Given the description of an element on the screen output the (x, y) to click on. 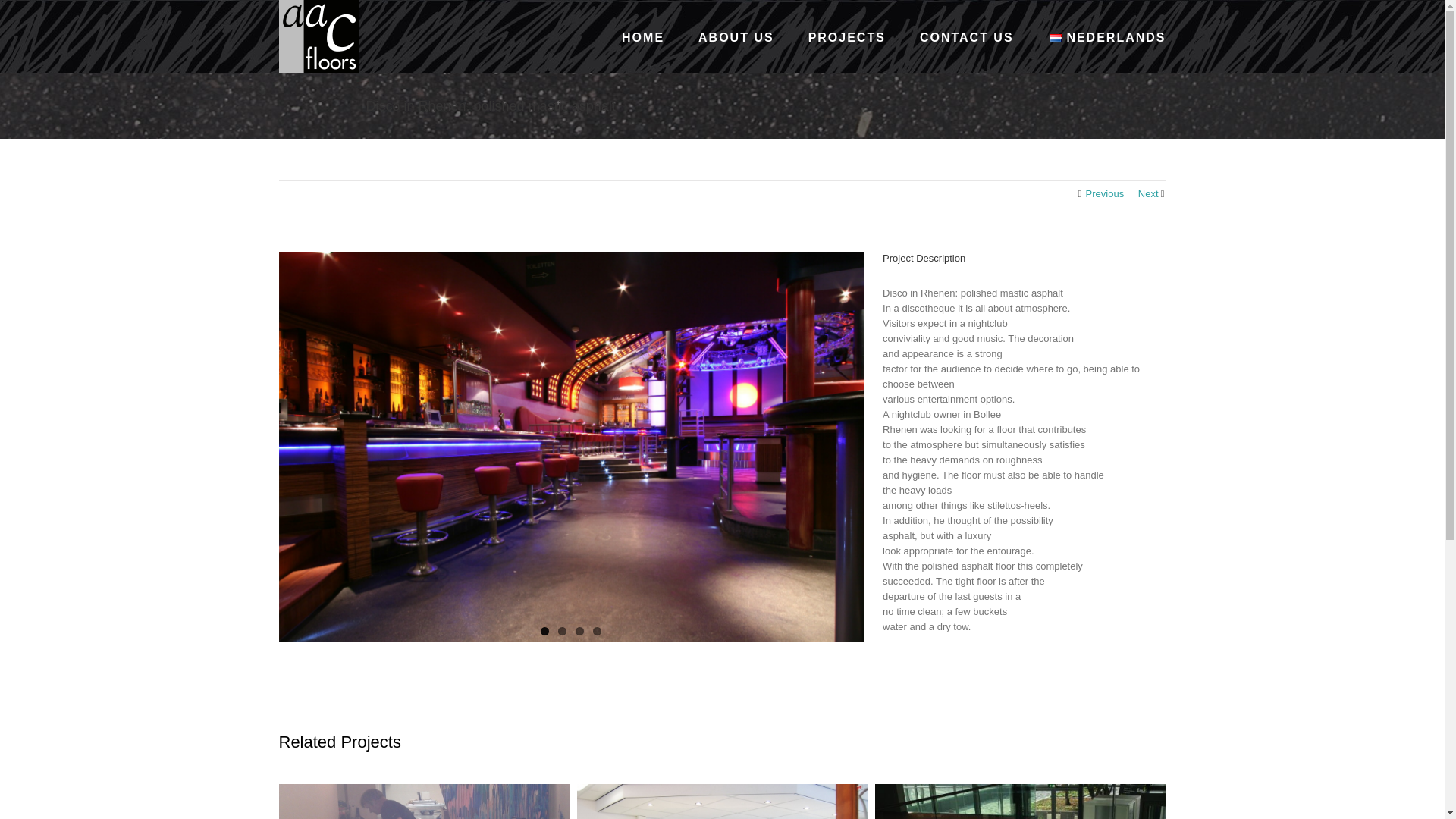
Nederlands (1055, 38)
NEDERLANDS (1107, 36)
ABOUT US (736, 36)
4 (596, 631)
CONTACT US (966, 36)
1 (544, 631)
2 (561, 631)
Previous (1105, 193)
PROJECTS (846, 36)
3 (579, 631)
